Given the description of an element on the screen output the (x, y) to click on. 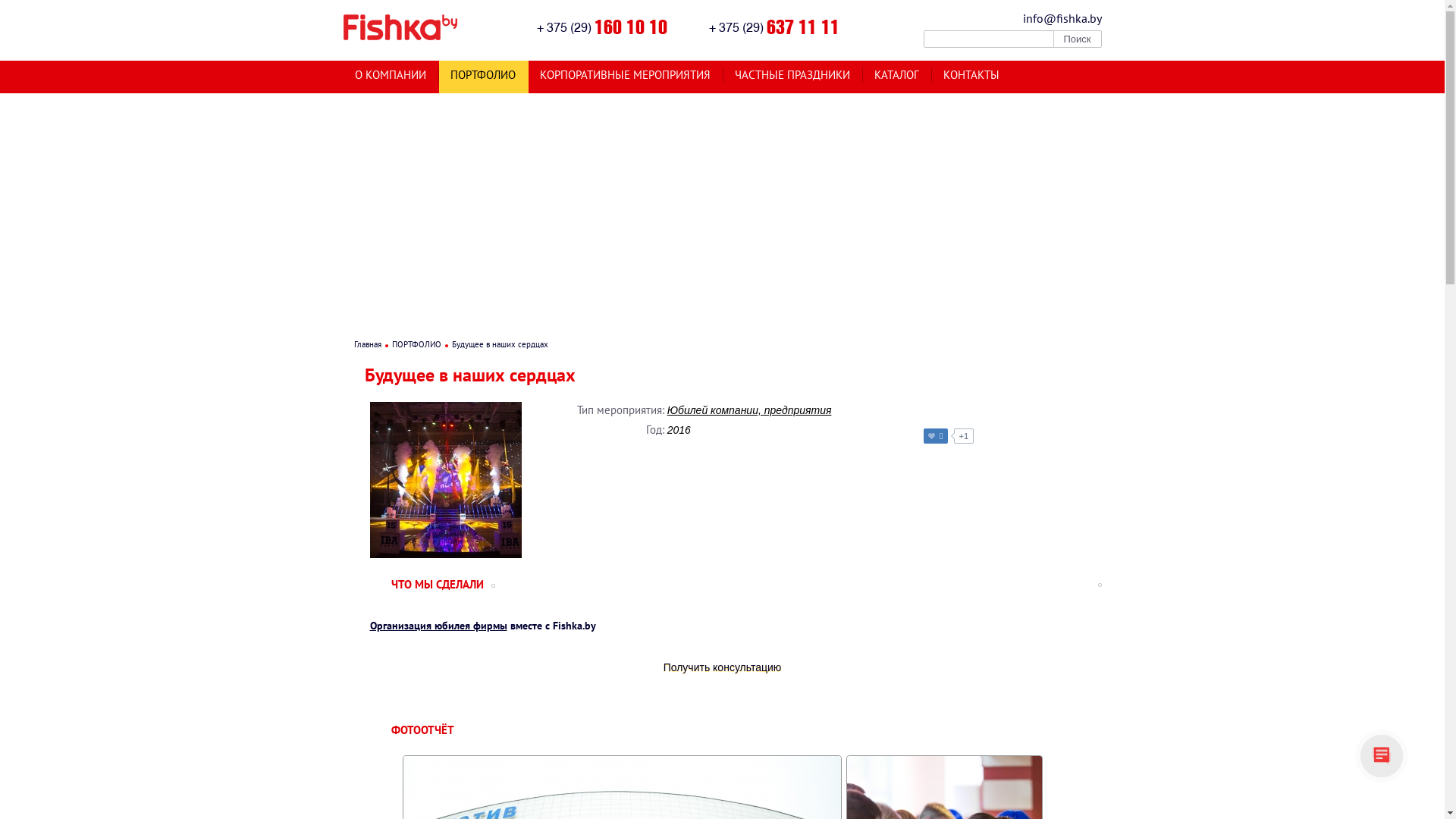
+ 375 (29) 160 10 10 Element type: text (601, 26)
info@fishka.by Element type: text (1049, 17)
+ 375 (29) 637 11 11 Element type: text (773, 26)
